Given the description of an element on the screen output the (x, y) to click on. 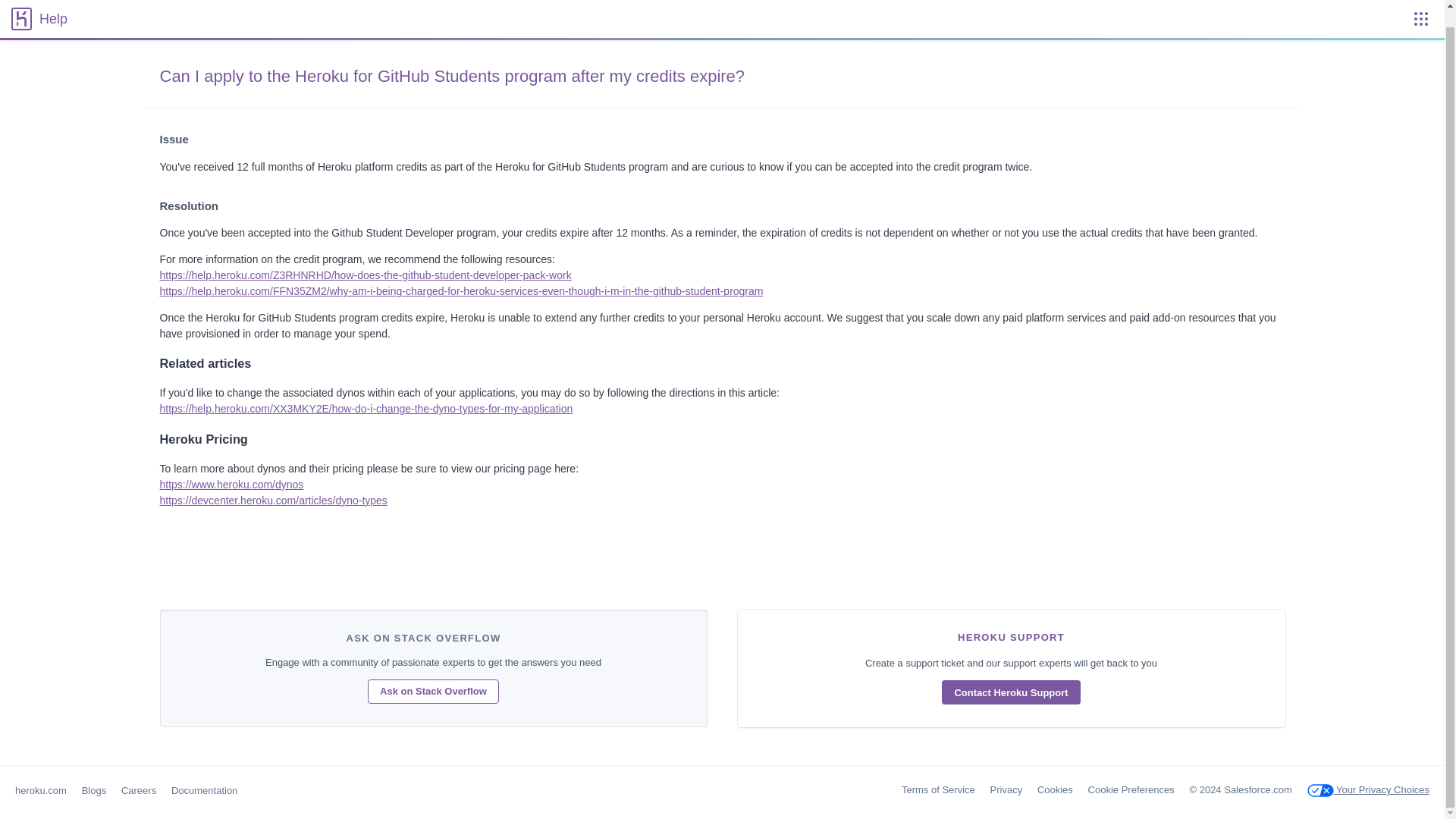
Terms of Service (938, 789)
Contact Heroku Support (1011, 692)
Blogs (93, 790)
Cookie Preferences (1130, 789)
Privacy (1006, 789)
heroku.com (40, 790)
Careers (137, 790)
Cookies (1054, 789)
Documentation (204, 790)
Ask on Stack Overflow (433, 691)
